Given the description of an element on the screen output the (x, y) to click on. 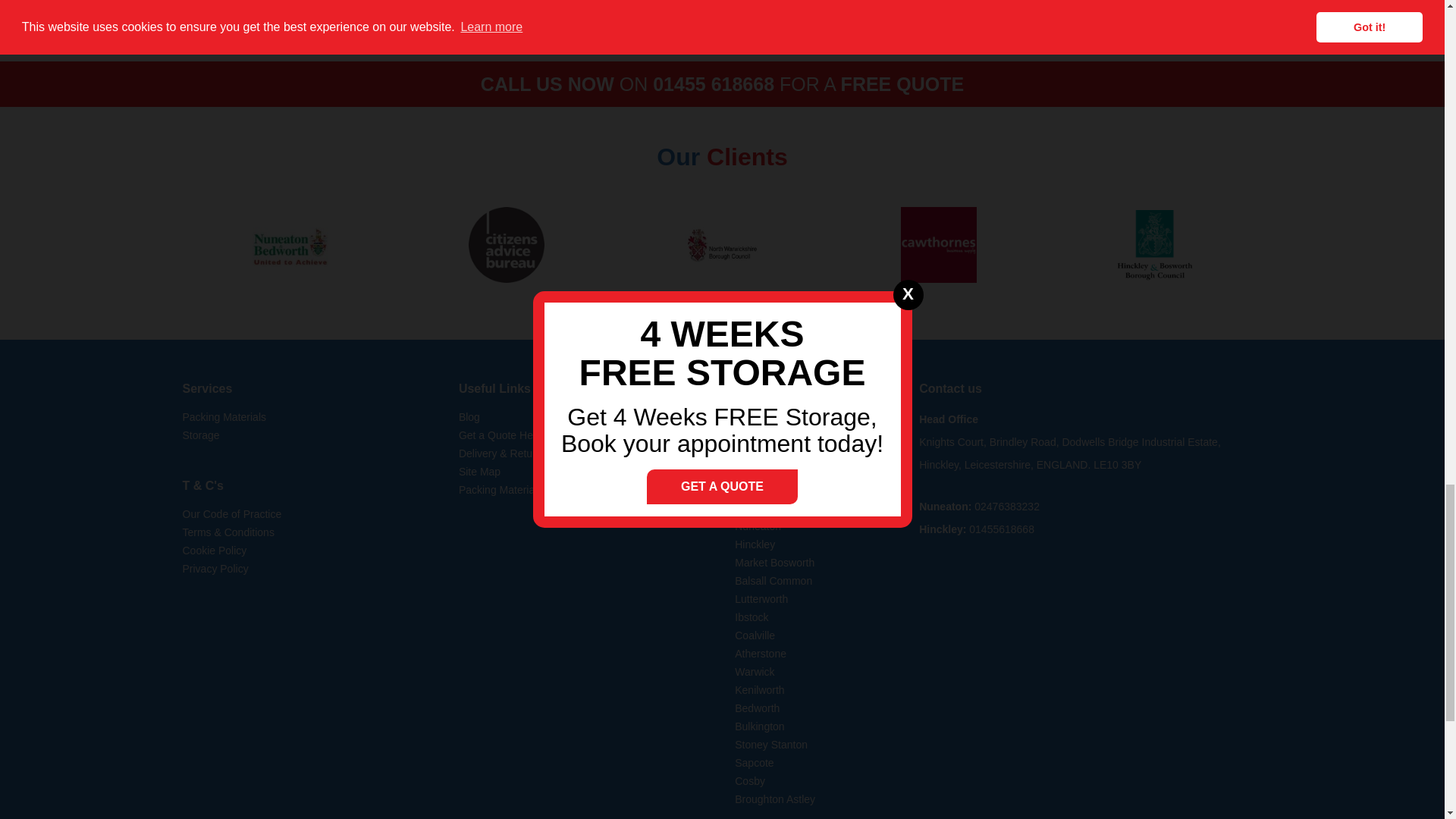
Our Client (289, 245)
Our Client (721, 245)
Our Client (506, 245)
Packing Materials (224, 417)
